Given the description of an element on the screen output the (x, y) to click on. 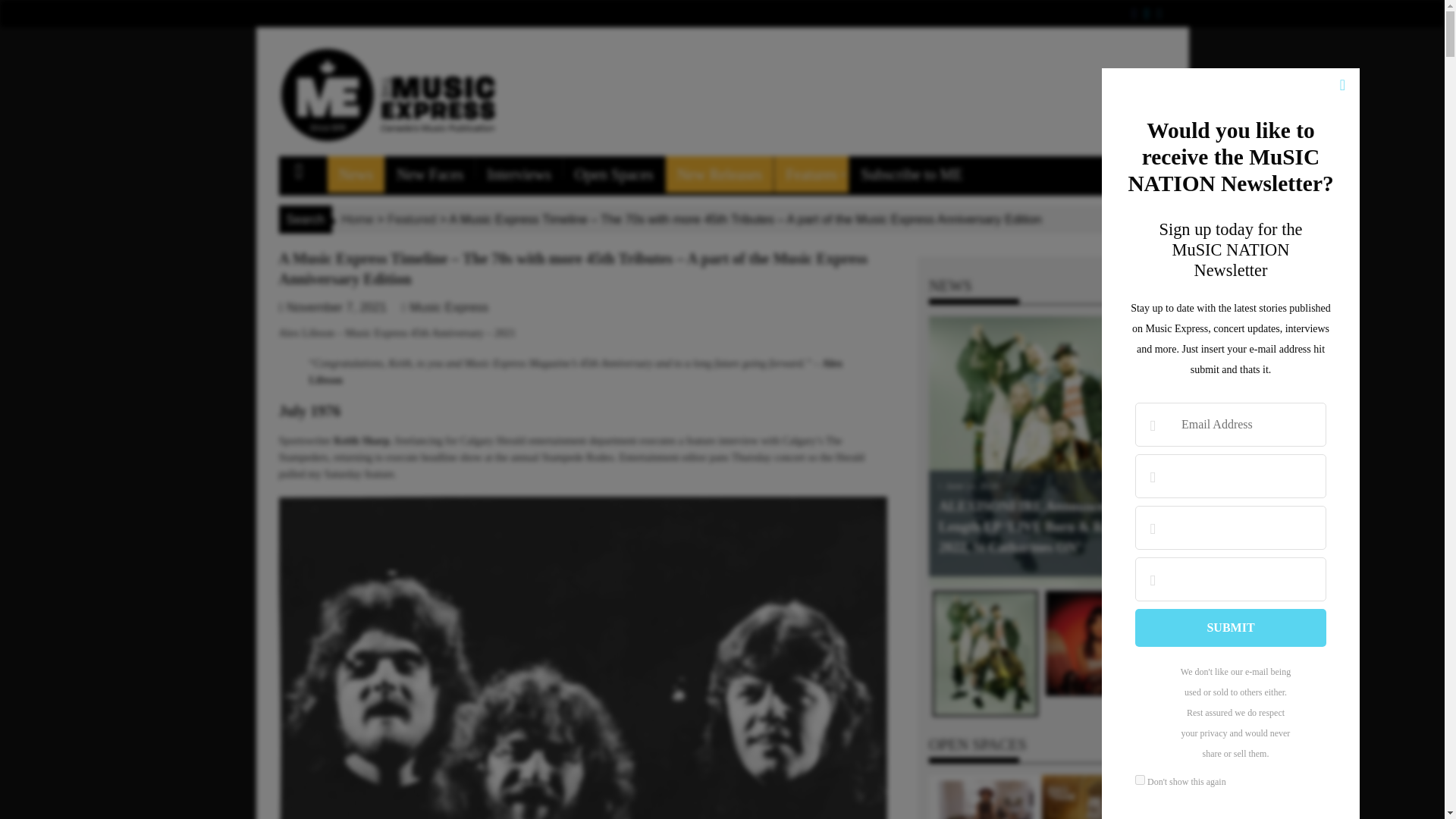
The Music Express (306, 168)
November 7, 2021 (336, 307)
News (356, 174)
Interviews (519, 174)
Open Spaces (614, 174)
New Faces (429, 174)
Music Express (448, 307)
Featured (411, 219)
on (1139, 779)
Subscribe to ME (911, 174)
